Given the description of an element on the screen output the (x, y) to click on. 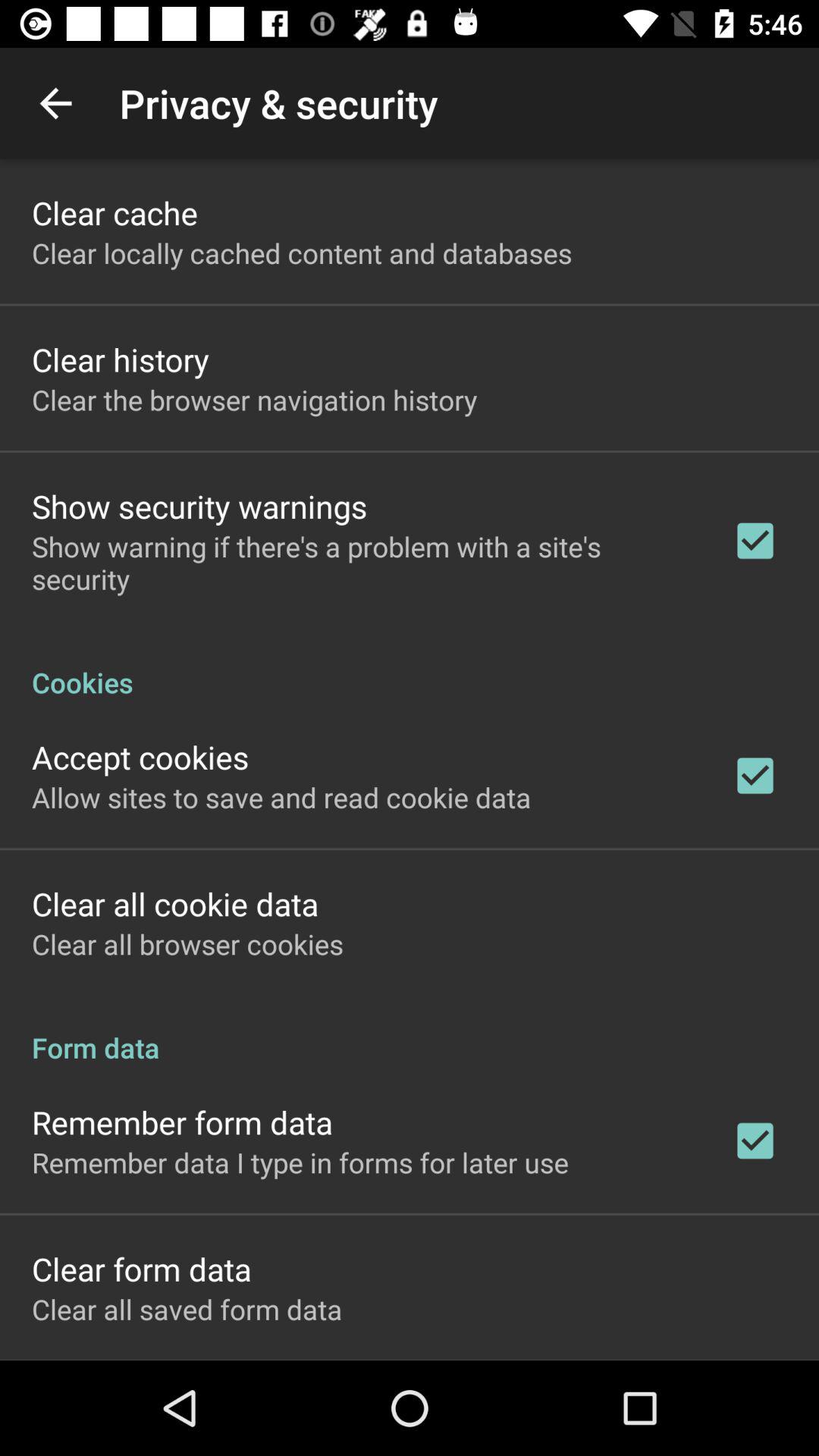
tap the item below the show security warnings (361, 562)
